Given the description of an element on the screen output the (x, y) to click on. 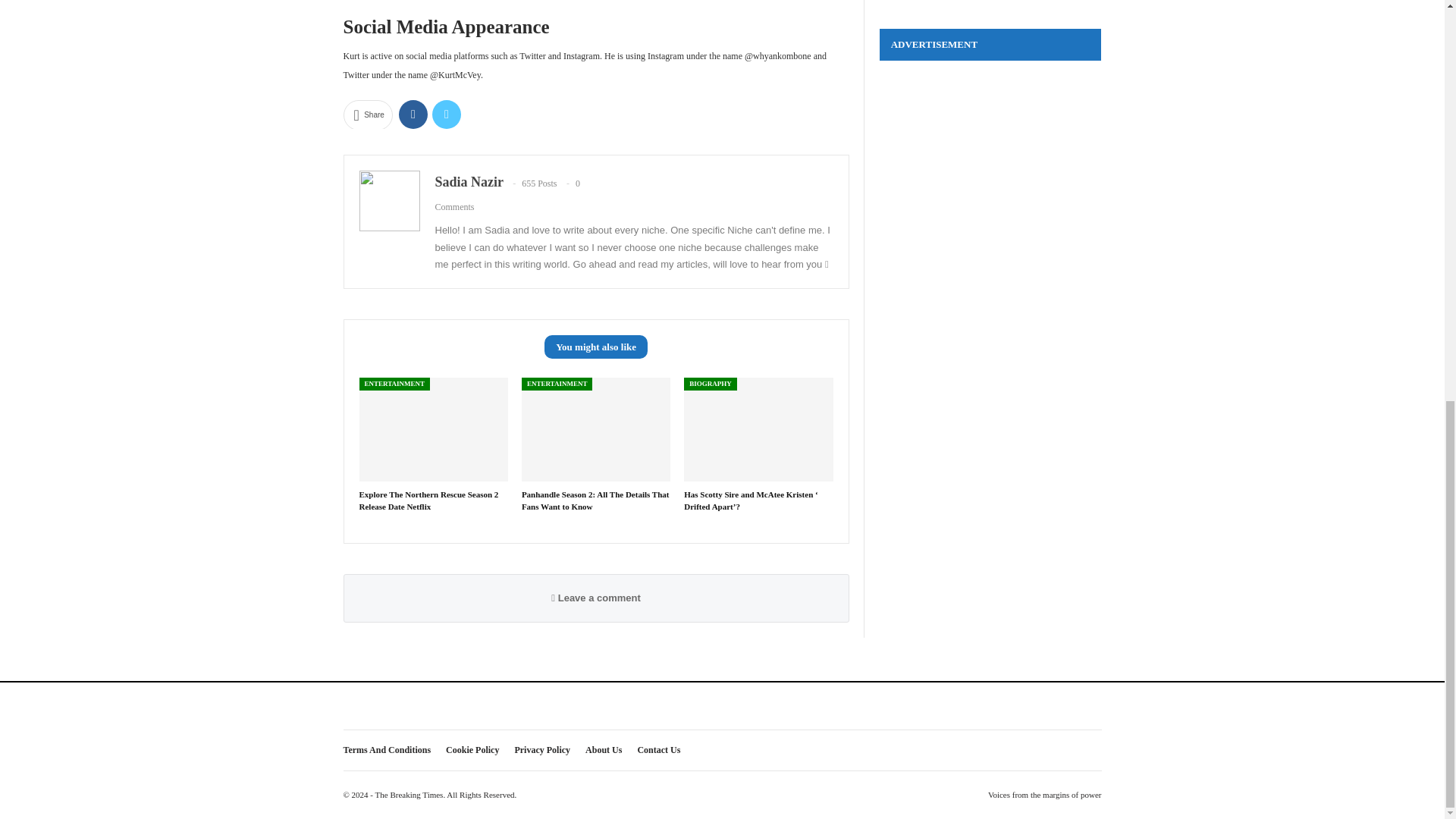
Leave a comment (595, 597)
Panhandle Season 2: All The Details That Fans Want to Know (595, 499)
Explore The Northern Rescue Season 2 Release Date Netflix  (429, 499)
Sadia Nazir (469, 181)
ENTERTAINMENT (556, 383)
Panhandle Season 2: All The Details That Fans Want to Know (595, 499)
ENTERTAINMENT (394, 383)
Panhandle Season 2: All The Details That Fans Want to Know (595, 429)
BIOGRAPHY (710, 383)
